Given the description of an element on the screen output the (x, y) to click on. 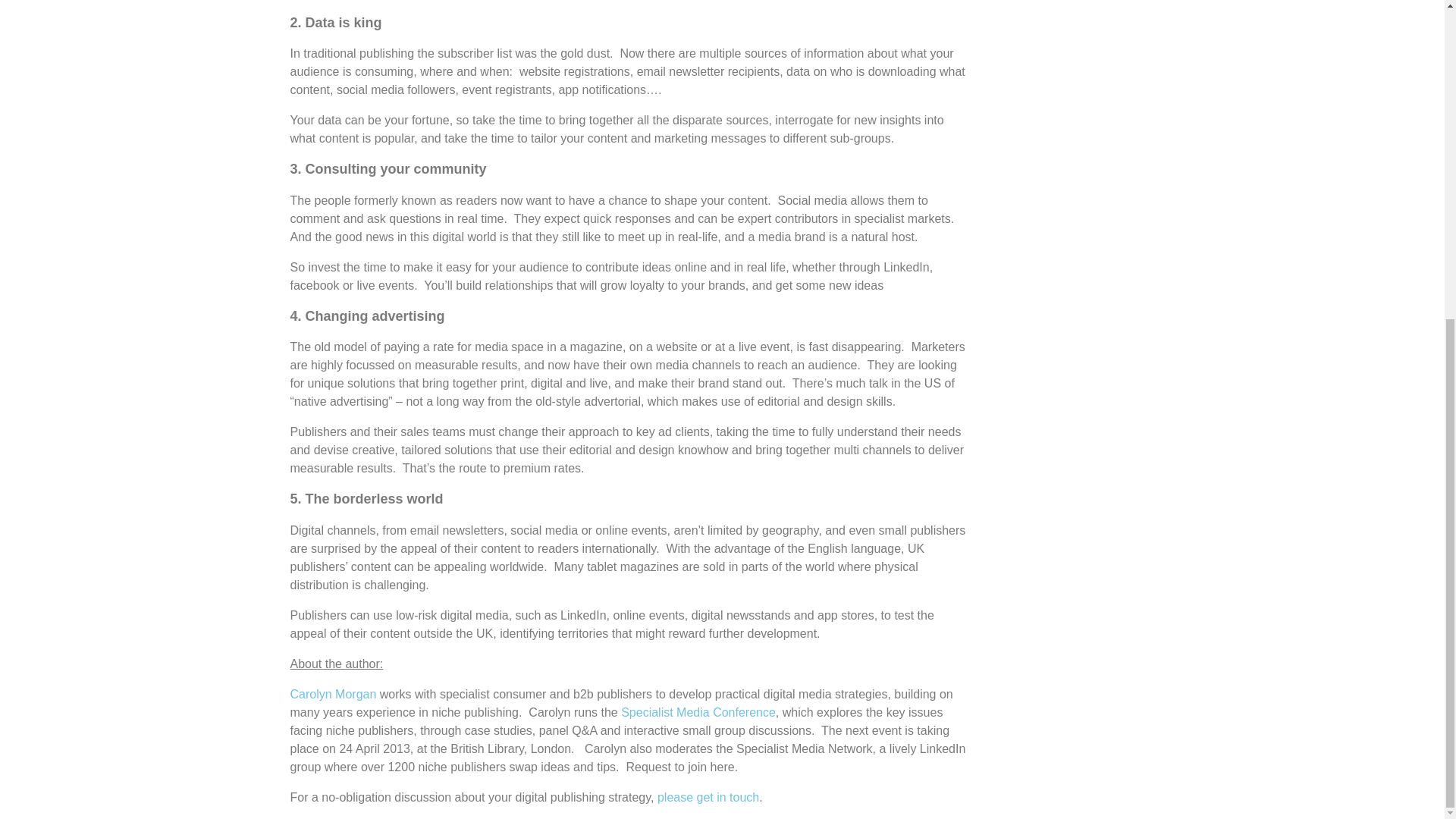
Specialist Media Conference (698, 712)
Carolyn Morgan (332, 694)
please get in touch (708, 797)
